Given the description of an element on the screen output the (x, y) to click on. 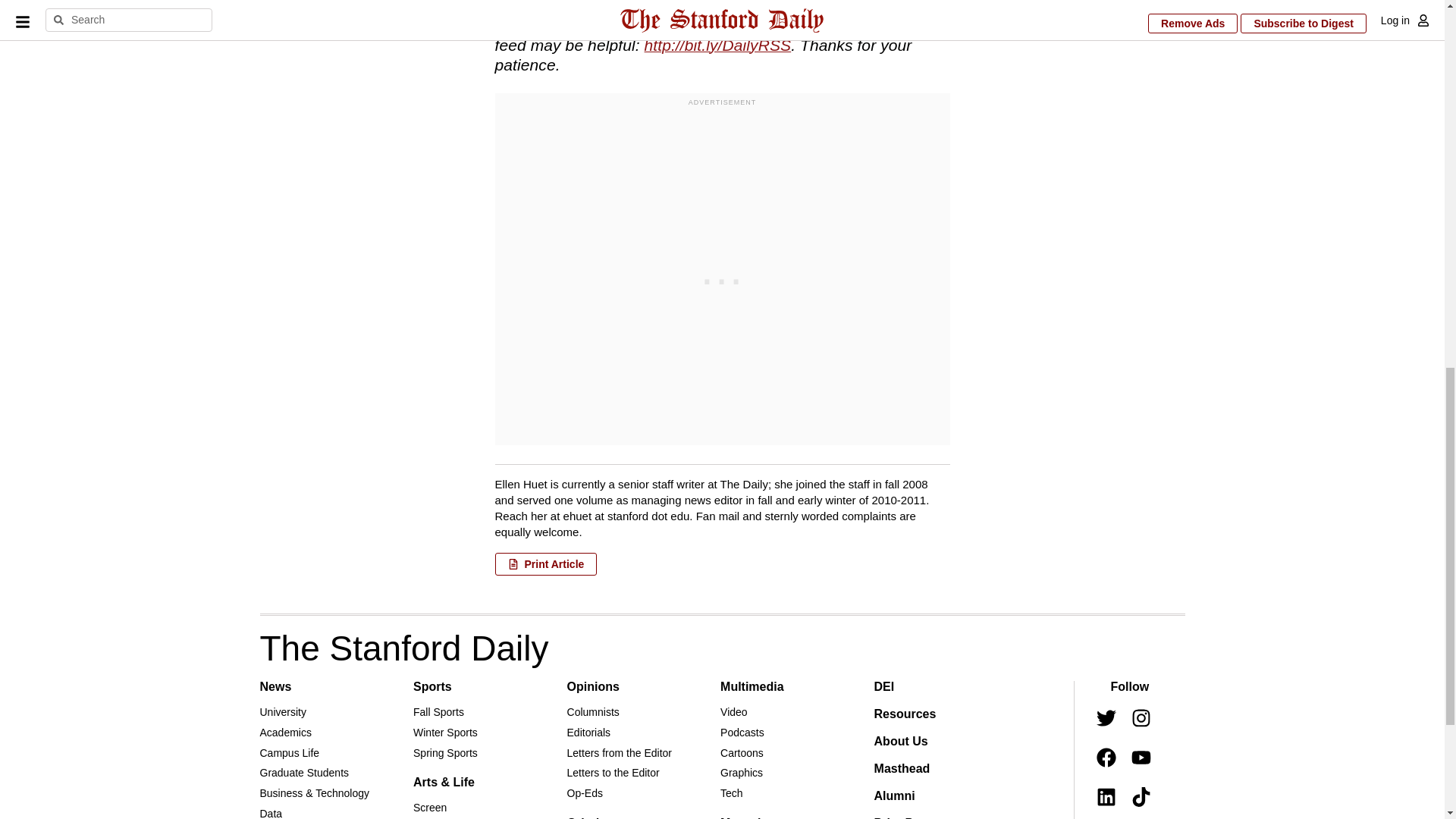
The Stanford Daily (403, 648)
Print Article (545, 563)
